Given the description of an element on the screen output the (x, y) to click on. 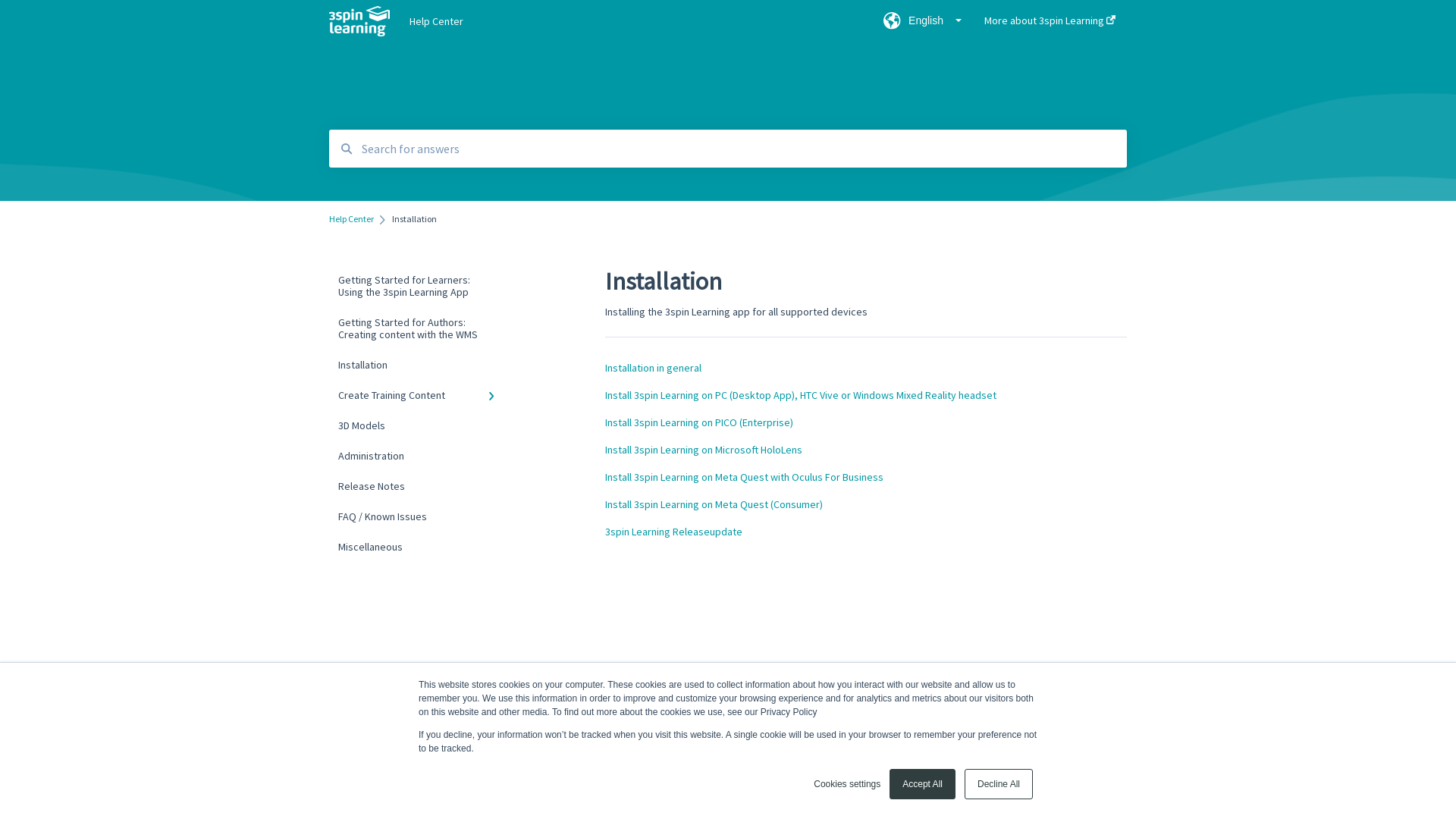
Install 3spin Learning on PICO (Enterprise) Element type: text (699, 422)
Administration Element type: text (420, 455)
Install 3spin Learning on Microsoft HoloLens Element type: text (703, 449)
3D Models Element type: text (420, 425)
Decline All Element type: text (998, 783)
FAQ / Known Issues Element type: text (420, 516)
Imprint Element type: text (892, 774)
Getting Started for Learners: Using the 3spin Learning App Element type: text (420, 285)
Install 3spin Learning on Meta Quest (Consumer) Element type: text (713, 504)
Release Notes Element type: text (420, 485)
Installation Element type: text (420, 364)
Help Center Element type: text (623, 20)
Accept All Element type: text (922, 783)
More about 3spin Learning Element type: text (796, 779)
Installation in general Element type: text (653, 367)
Create Training Content Element type: text (420, 394)
3spin Learning Releaseupdate Element type: text (673, 531)
Getting Started for Authors: Creating content with the WMS Element type: text (420, 328)
Help Center Element type: text (351, 218)
Miscellaneous Element type: text (420, 546)
Cookies settings Element type: text (846, 783)
3spin Learning Website Element type: text (1067, 774)
